Given the description of an element on the screen output the (x, y) to click on. 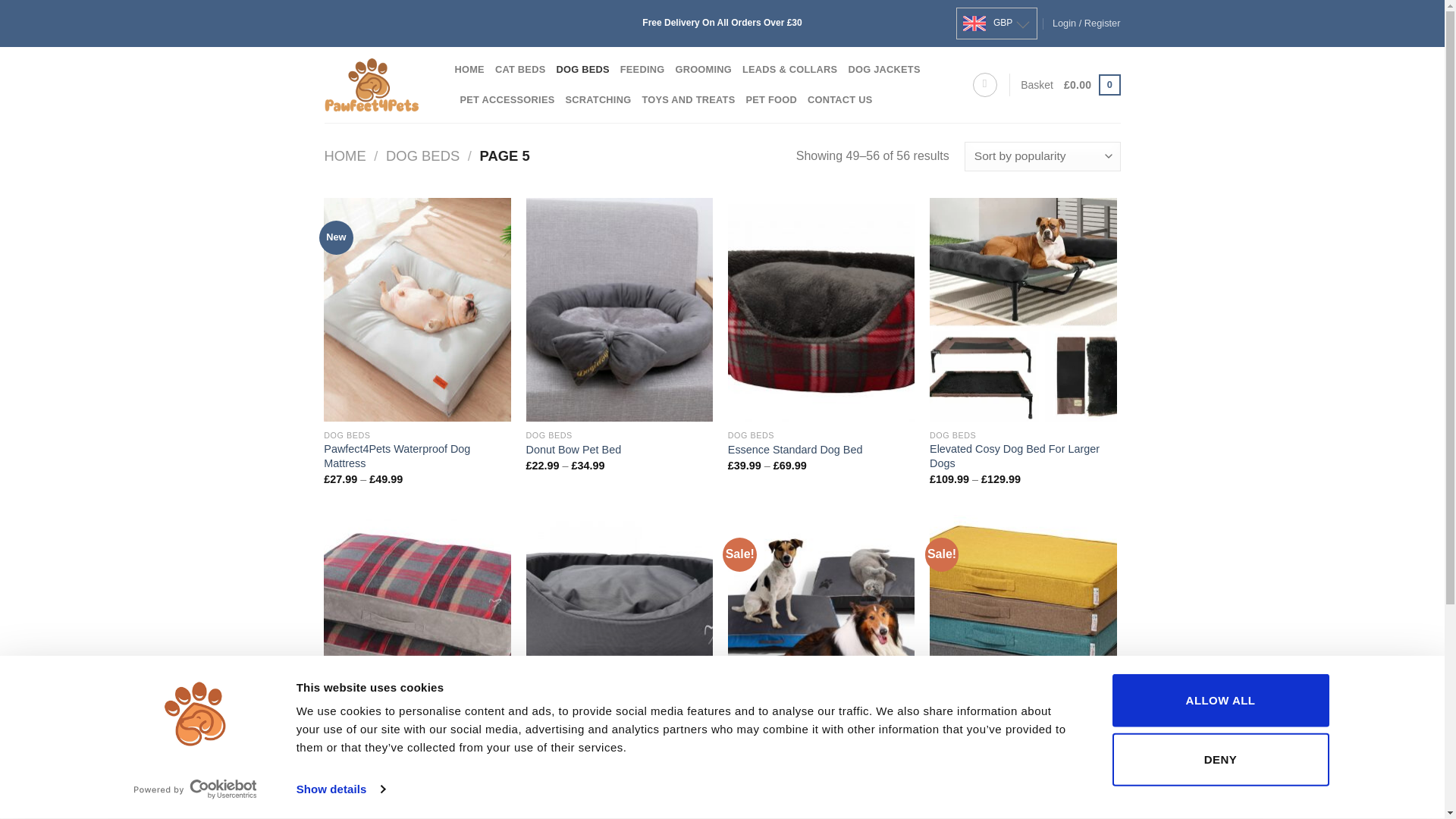
ALLOW ALL (1219, 700)
Login (1086, 23)
DENY (1219, 758)
Show details (340, 789)
Cart (1091, 84)
PawFect4Pets (378, 84)
